Given the description of an element on the screen output the (x, y) to click on. 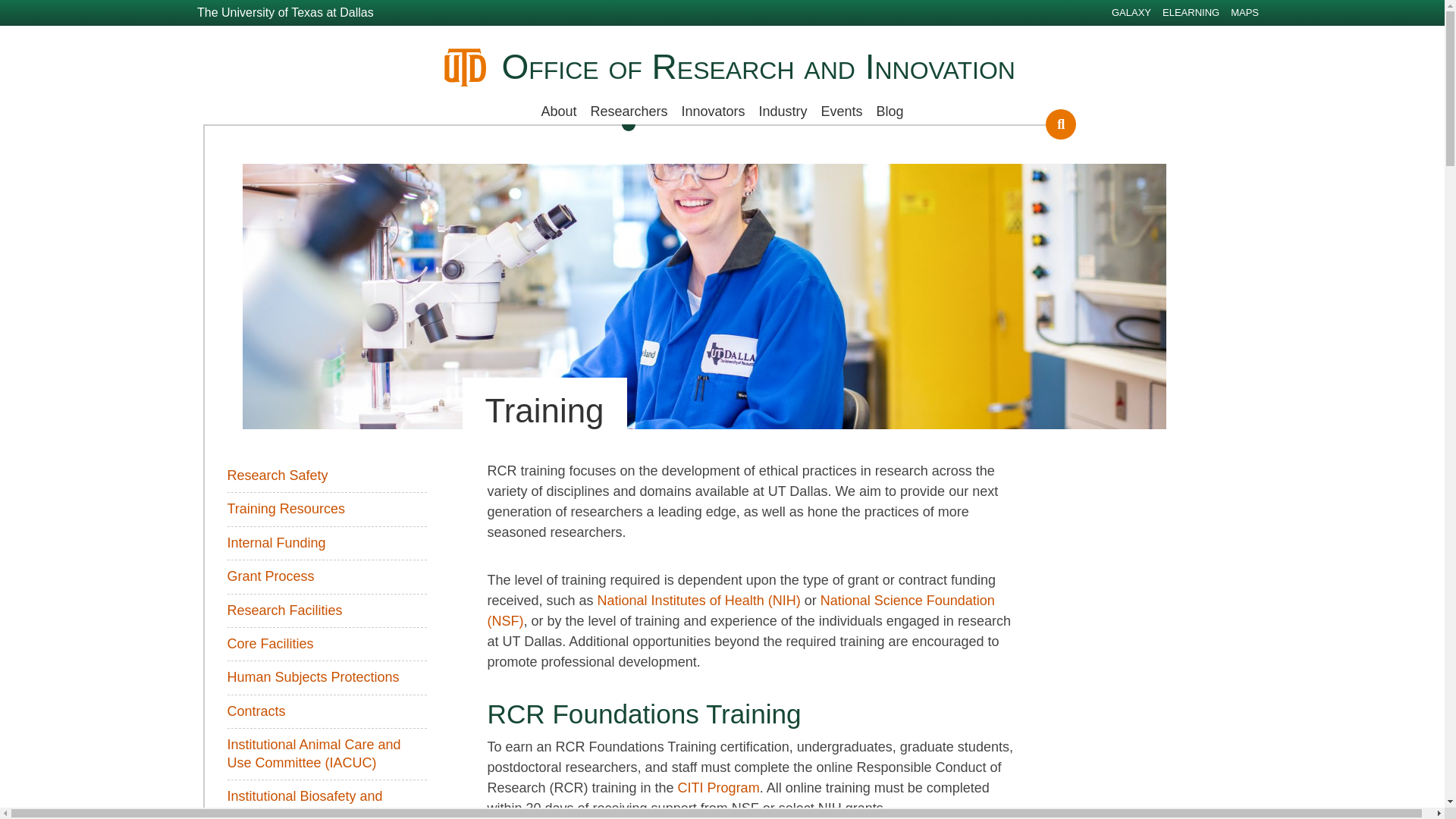
GALAXY (1131, 12)
The University of Texas at Dallas (285, 11)
Industry (782, 111)
Innovators (712, 111)
Researchers (628, 111)
ELEARNING (1190, 12)
About (558, 111)
Office of Research and Innovation (757, 66)
Events (841, 111)
MAPS (1244, 12)
